Given the description of an element on the screen output the (x, y) to click on. 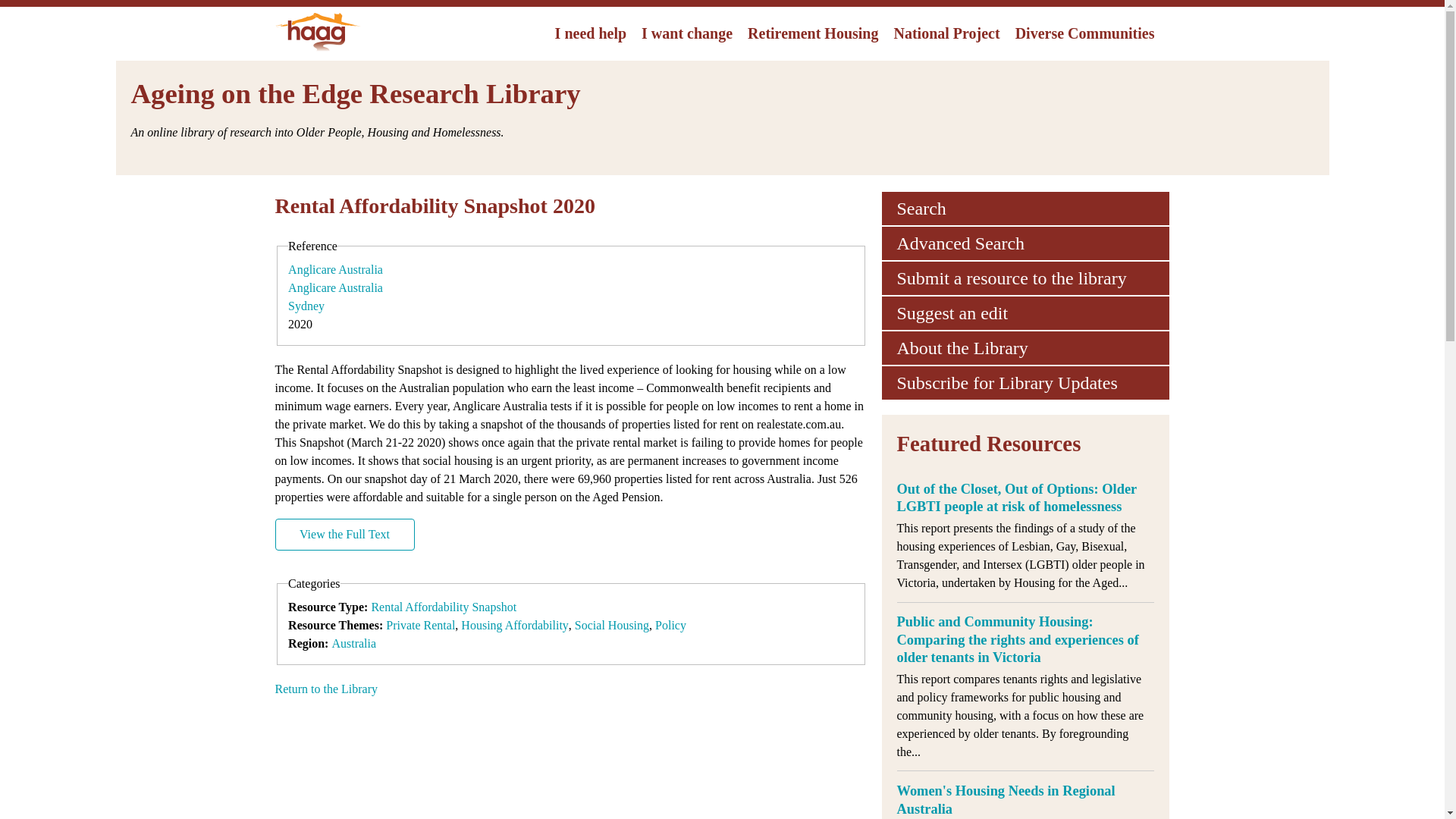
Retirement Housing (812, 32)
I want change (686, 32)
I need help (590, 32)
Return to the Housing For The Aged Action Group home page (317, 51)
